Given the description of an element on the screen output the (x, y) to click on. 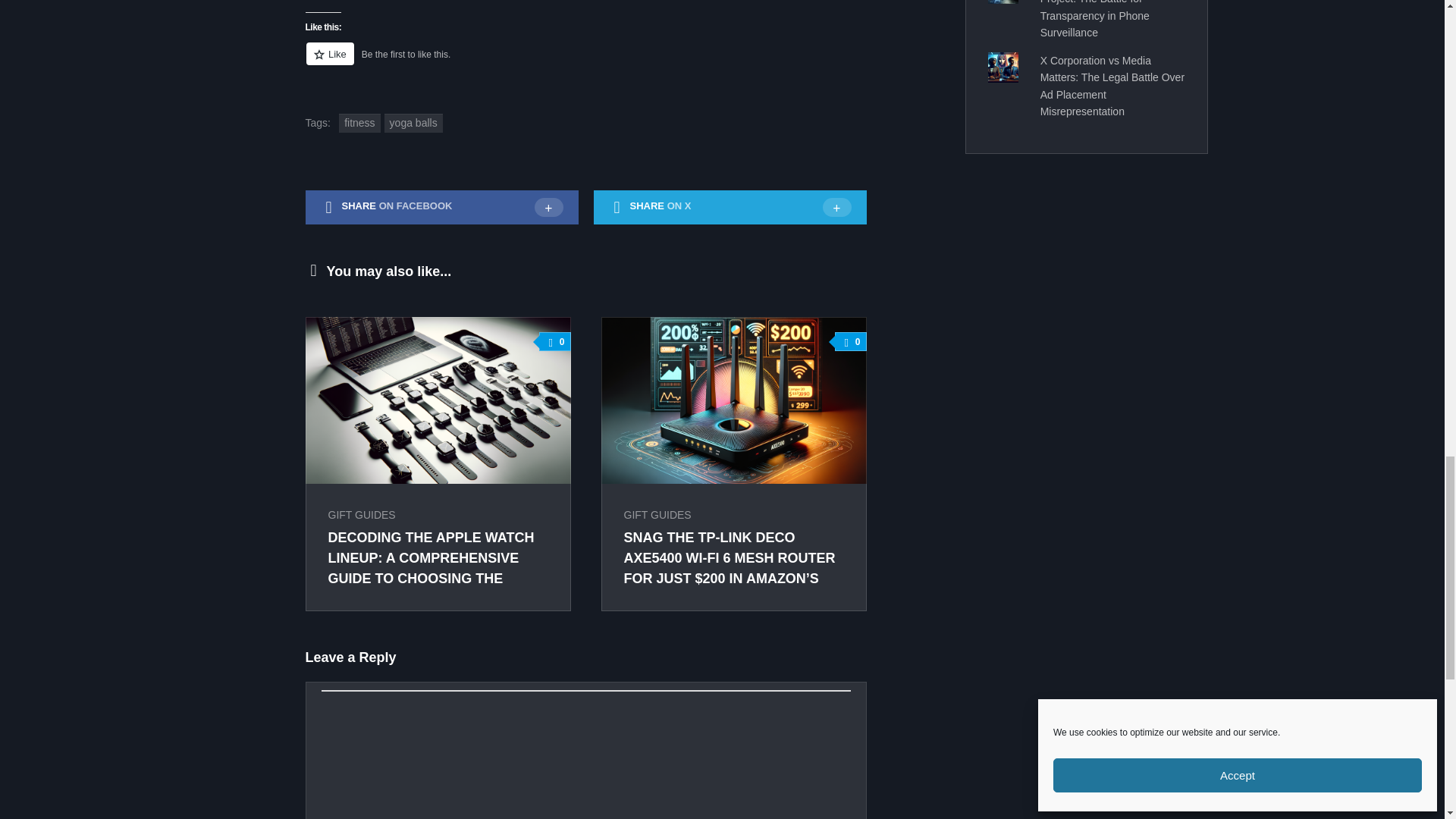
fitness (359, 122)
Comment Form (585, 754)
Like or Reblog (585, 62)
